Given the description of an element on the screen output the (x, y) to click on. 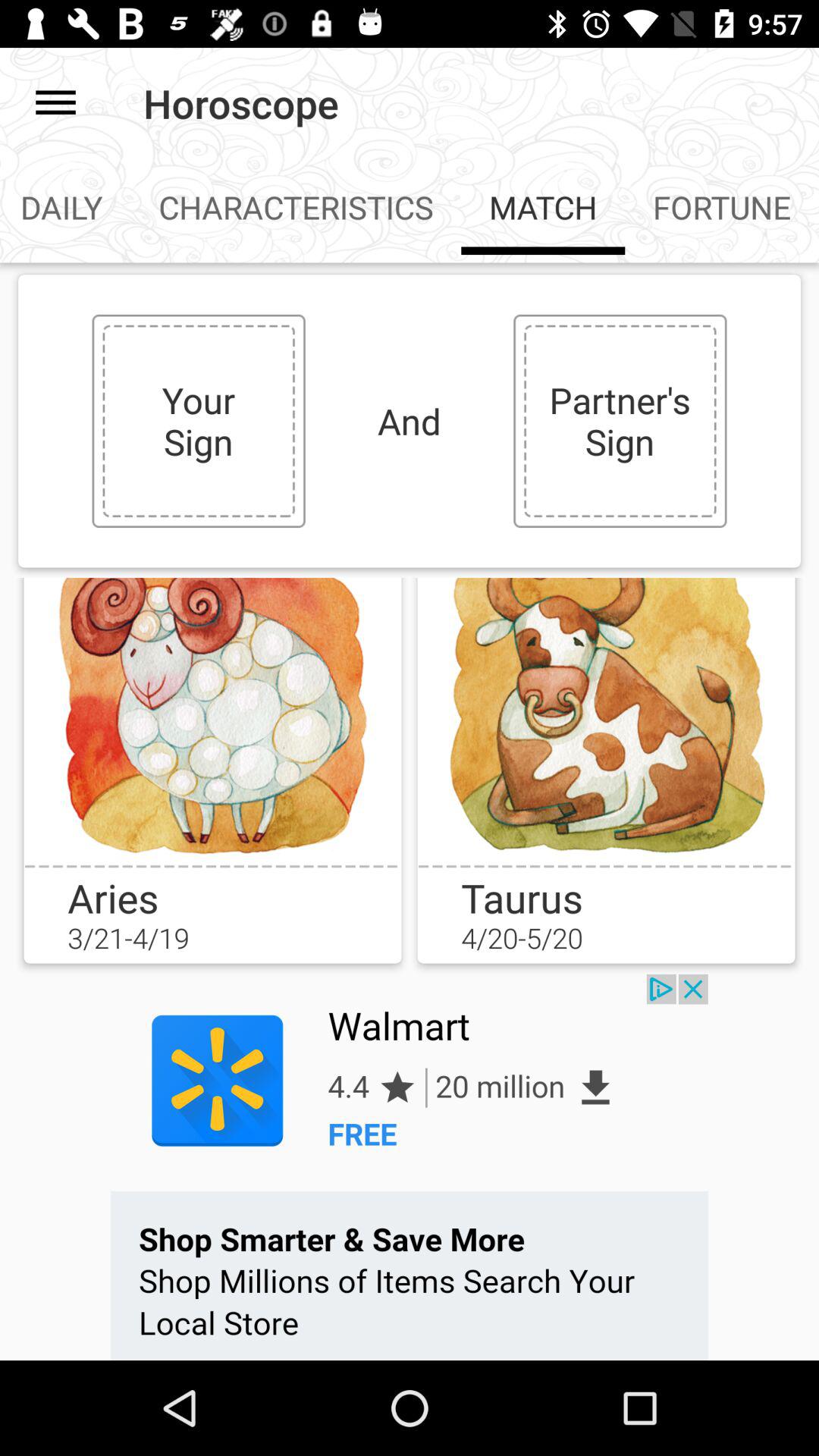
click advertisement banner (409, 1167)
